Given the description of an element on the screen output the (x, y) to click on. 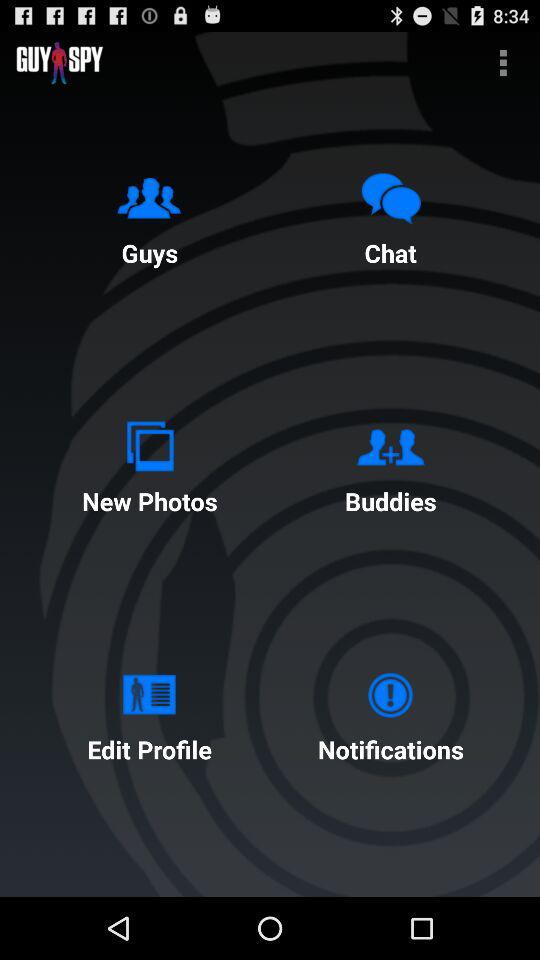
turn on icon on the right (390, 463)
